Given the description of an element on the screen output the (x, y) to click on. 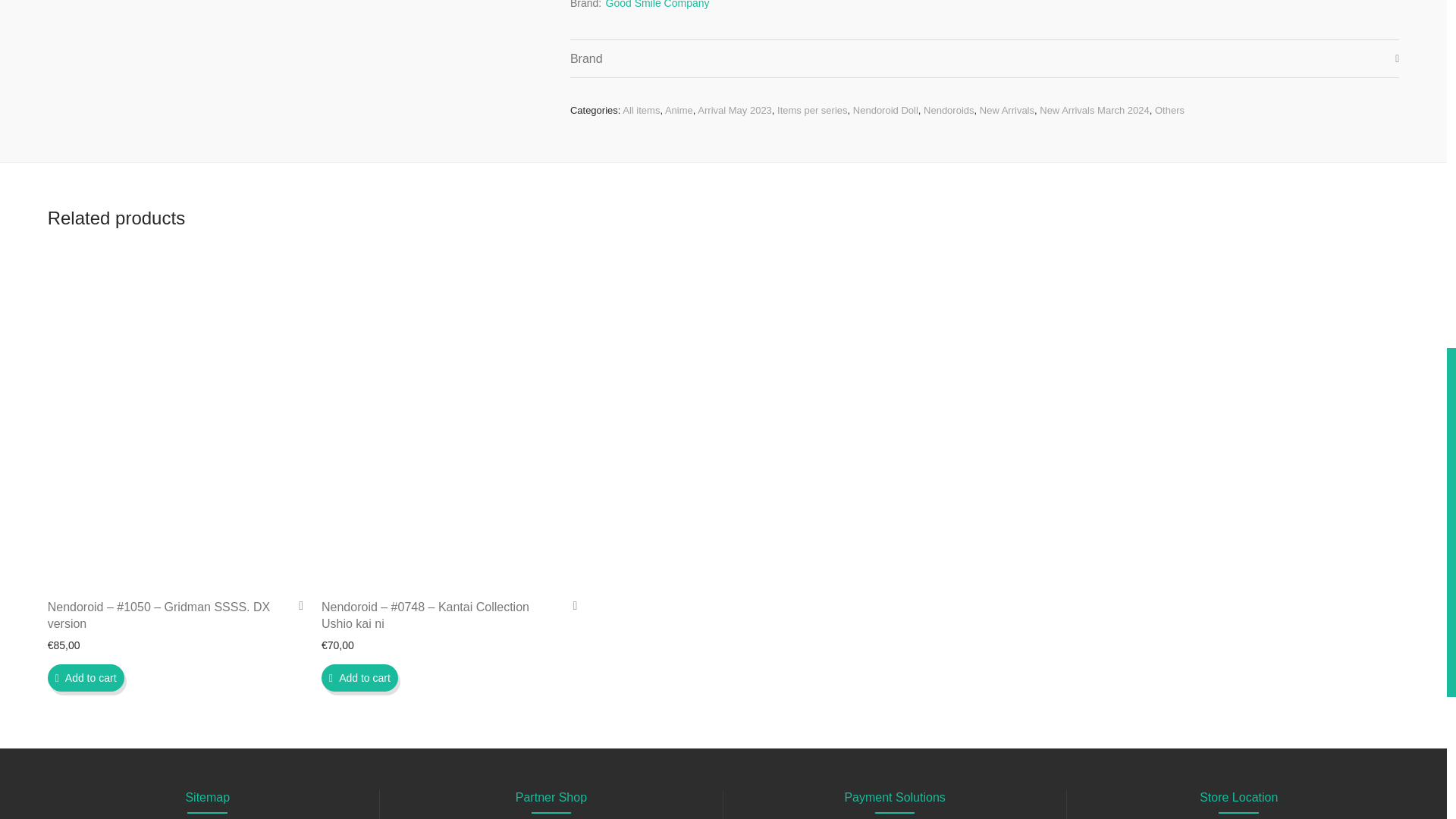
View brand (657, 6)
All items (641, 110)
Anime (679, 110)
Add to Wishlist (295, 604)
Good Smile Company (657, 6)
Arrival May 2023 (734, 110)
Add to Wishlist (569, 604)
Brand (984, 58)
